Given the description of an element on the screen output the (x, y) to click on. 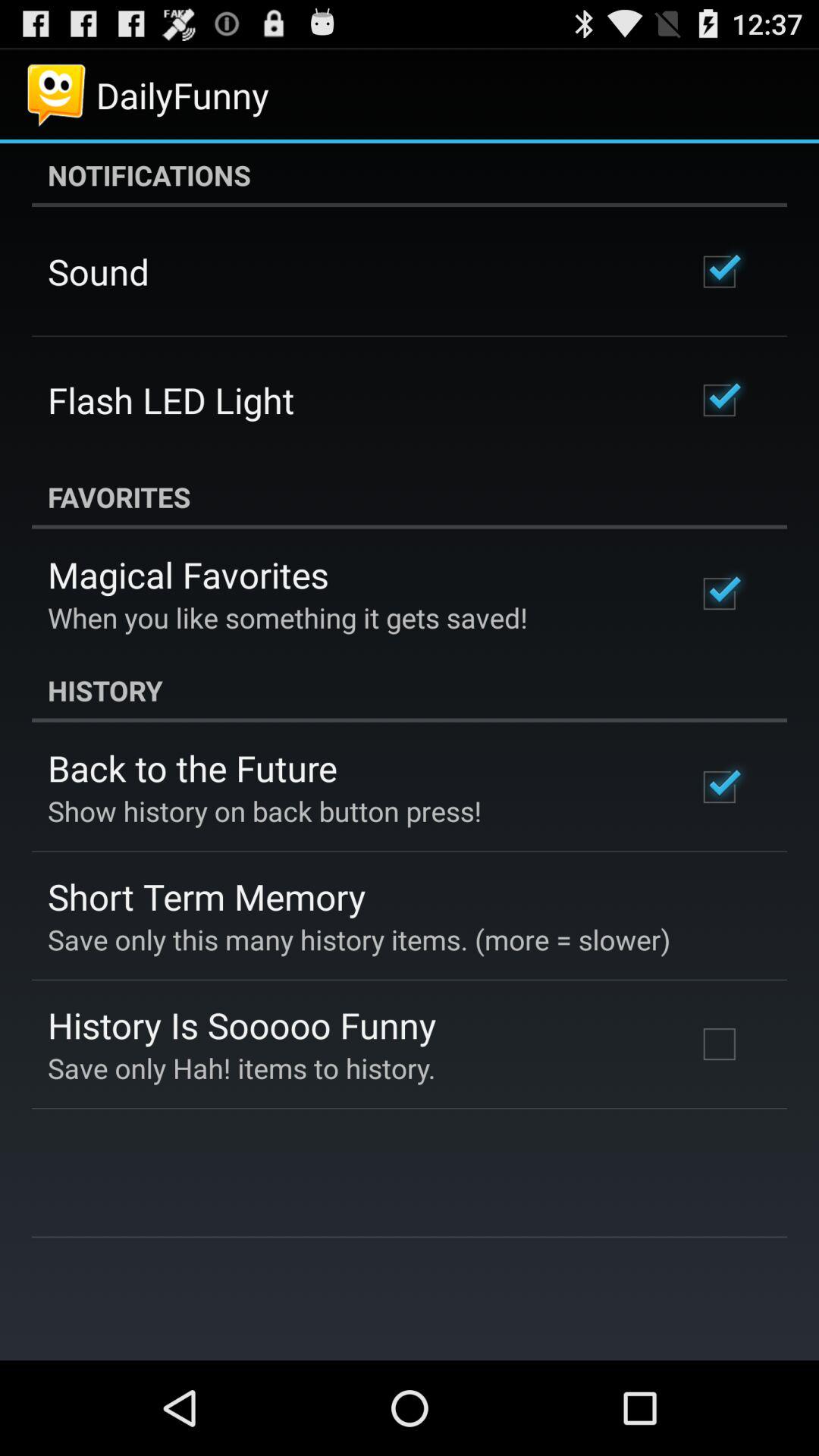
jump until the flash led light (170, 399)
